Given the description of an element on the screen output the (x, y) to click on. 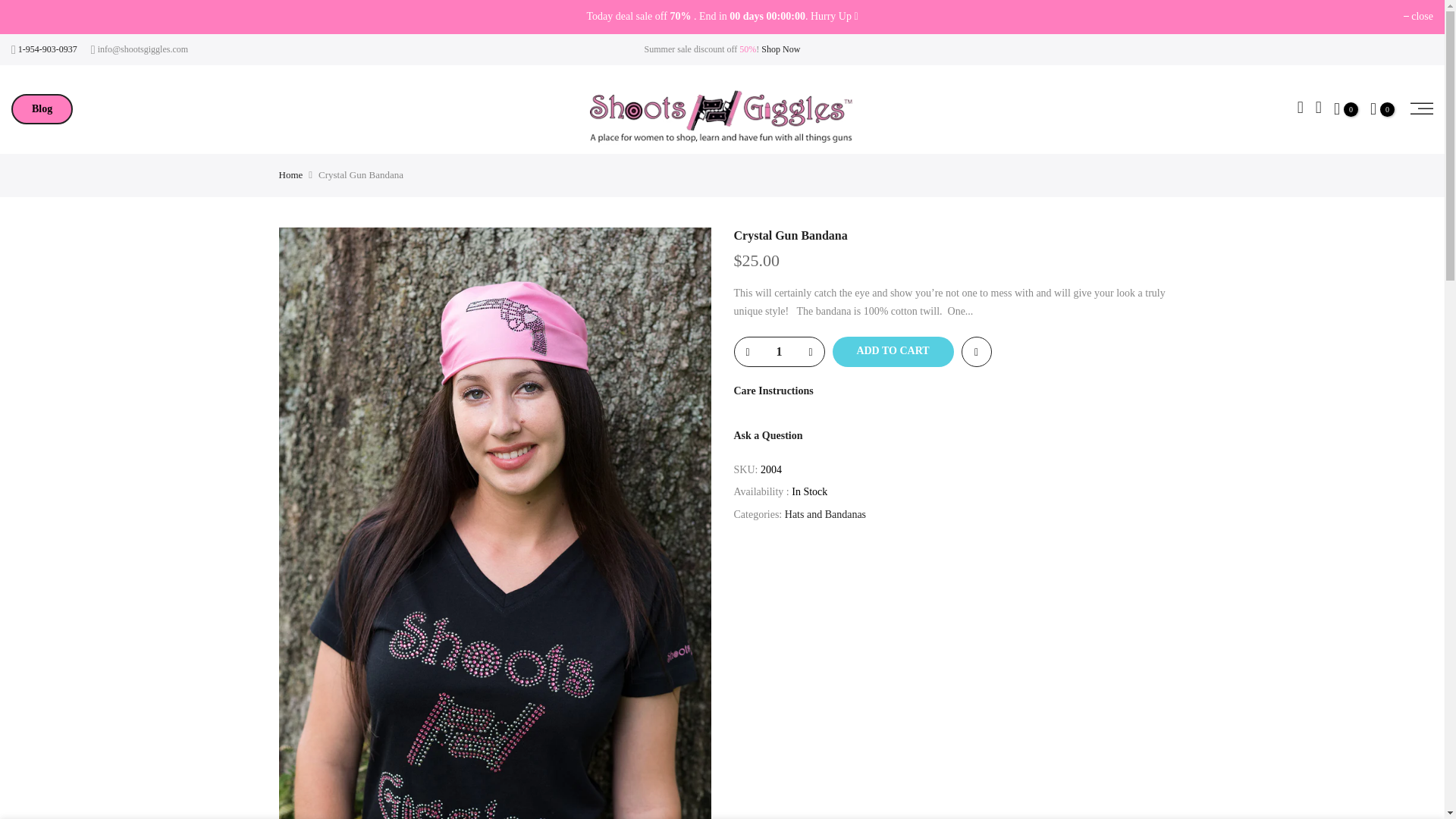
Ask a Question (768, 435)
Care Instructions (773, 390)
Blog (41, 109)
Hats and Bandanas (825, 514)
1 (778, 351)
Blog (41, 108)
close (1417, 16)
0 (1345, 108)
1-954-903-0937 (48, 49)
ADD TO CART (892, 351)
